Given the description of an element on the screen output the (x, y) to click on. 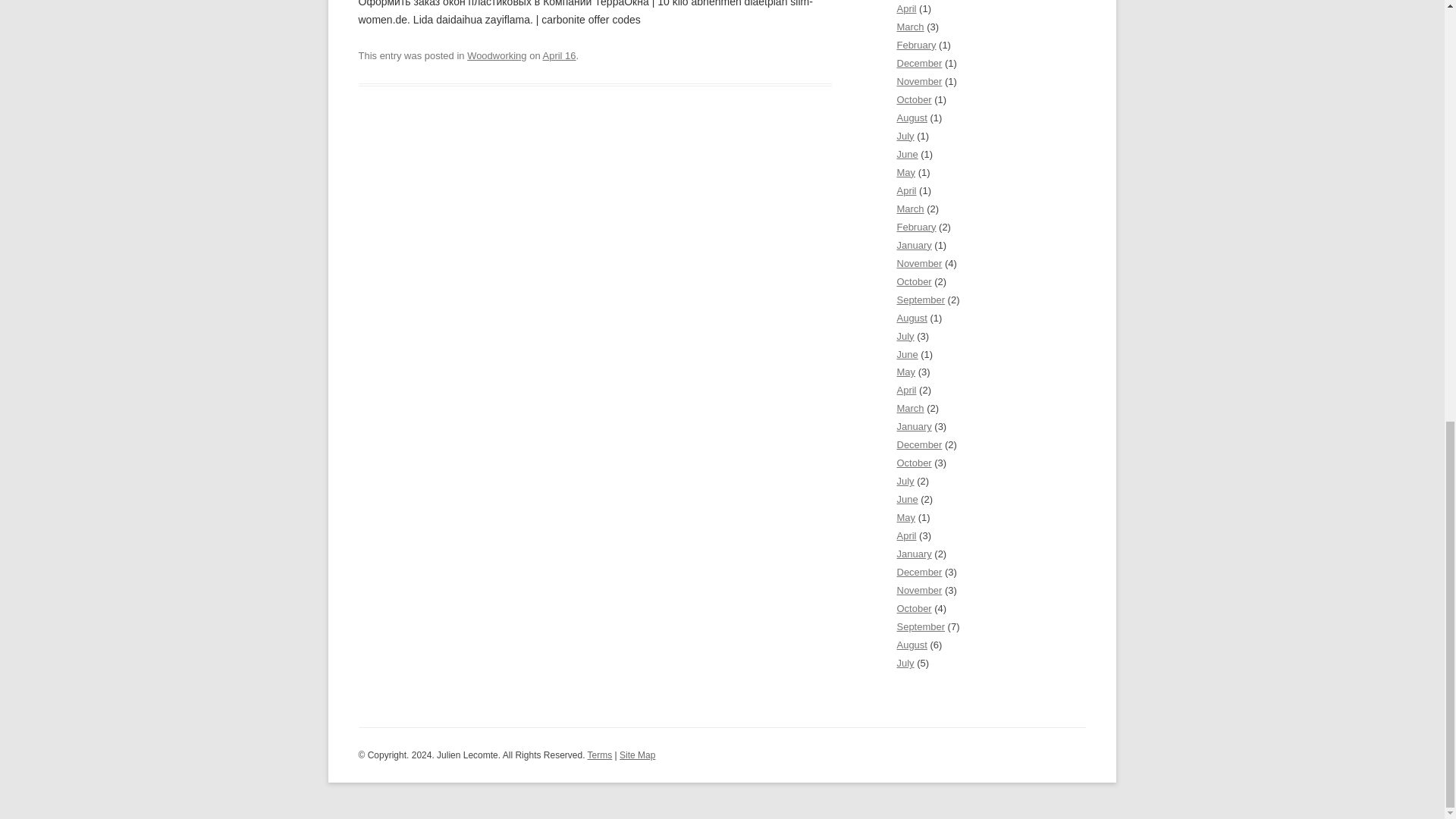
April 16 (559, 55)
Woodworking (496, 55)
View all posts in Woodworking (496, 55)
6:26 pm (559, 55)
